Given the description of an element on the screen output the (x, y) to click on. 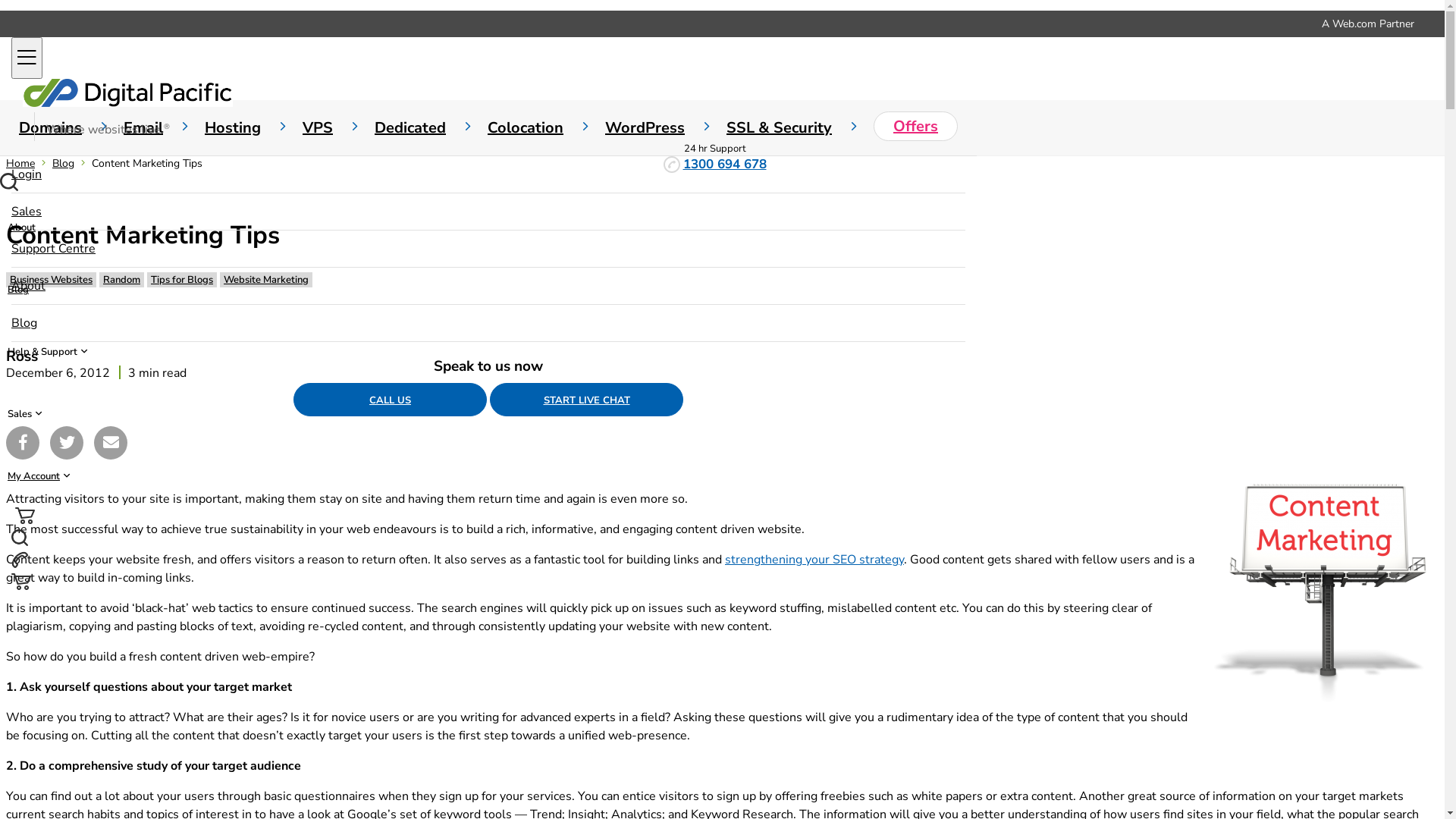
START LIVE CHAT Element type: text (586, 399)
My Account Element type: text (722, 476)
Facebook Element type: hover (22, 442)
Home Element type: text (20, 163)
About Element type: text (488, 285)
Sales Element type: text (488, 211)
SSL & Security Element type: text (799, 127)
Twitter Element type: hover (66, 442)
Call 1300 694 678 Element type: hover (722, 562)
Blog Element type: text (722, 289)
Email Element type: hover (110, 442)
Support Centre Element type: text (488, 248)
Website Marketing Element type: text (265, 279)
Login Element type: text (488, 174)
Blog Element type: text (63, 163)
Business Websites Element type: text (51, 279)
strengthening your SEO strategy Element type: text (813, 559)
Hosting Element type: text (253, 127)
WordPress Element type: text (665, 127)
VPS Element type: text (338, 127)
CALL US Element type: text (389, 399)
About Element type: text (722, 227)
Blog Element type: text (488, 322)
Domains Element type: text (70, 127)
Colocation Element type: text (546, 127)
View your cart Element type: hover (722, 584)
Help & Support Element type: text (722, 351)
content marketing Element type: hover (1324, 588)
Offers Element type: text (915, 126)
Random Element type: text (121, 279)
1300 694 678 Element type: text (723, 163)
Dedicated Element type: text (430, 127)
Sales Element type: text (722, 413)
Tips for Blogs Element type: text (181, 279)
View your Cart Element type: hover (24, 519)
Email Element type: text (163, 127)
